Given the description of an element on the screen output the (x, y) to click on. 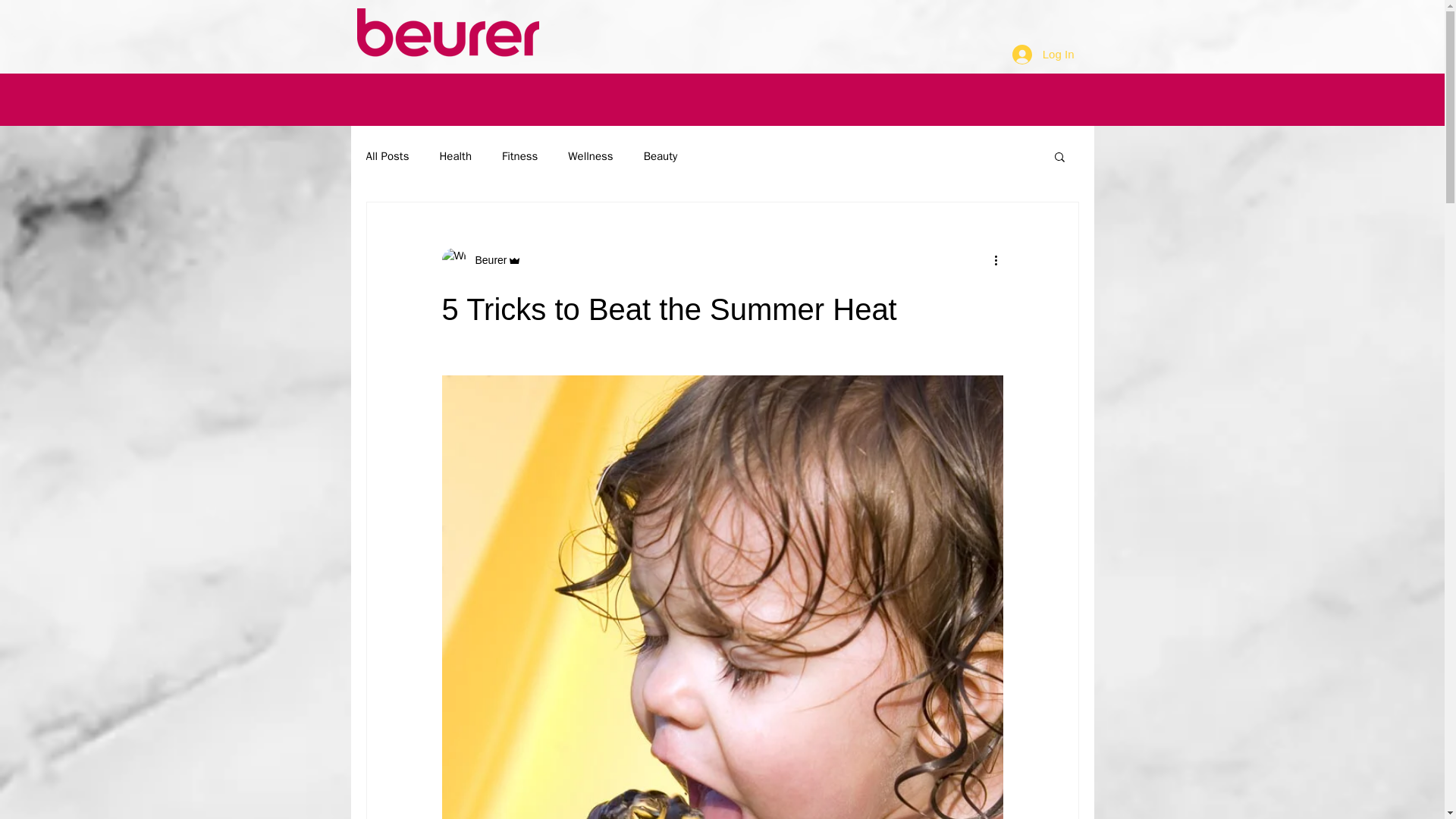
Health (455, 155)
Beauty (660, 155)
Beurer (481, 259)
Wellness (589, 155)
Fitness (519, 155)
Beurer  (485, 259)
Log In (1042, 53)
All Posts (387, 155)
